Given the description of an element on the screen output the (x, y) to click on. 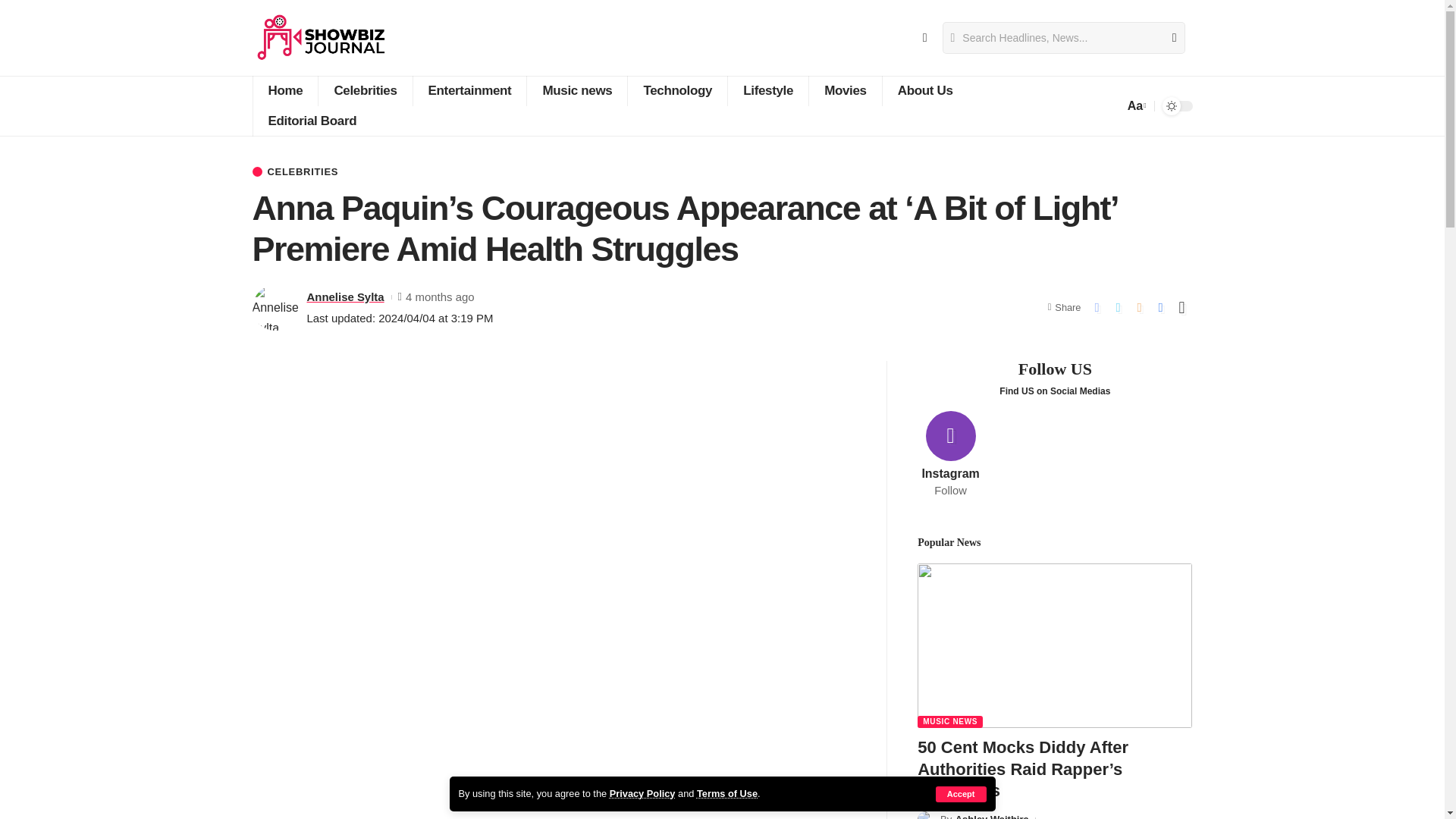
Music news (576, 91)
Technology (676, 91)
Lifestyle (767, 91)
Editorial Board (311, 121)
Search (1168, 37)
Entertainment (469, 91)
Aa (1135, 105)
Privacy Policy (642, 793)
The Showbiz Journal (320, 37)
Celebrities (364, 91)
Accept (961, 794)
Movies (845, 91)
Terms of Use (727, 793)
Home (284, 91)
About Us (925, 91)
